Given the description of an element on the screen output the (x, y) to click on. 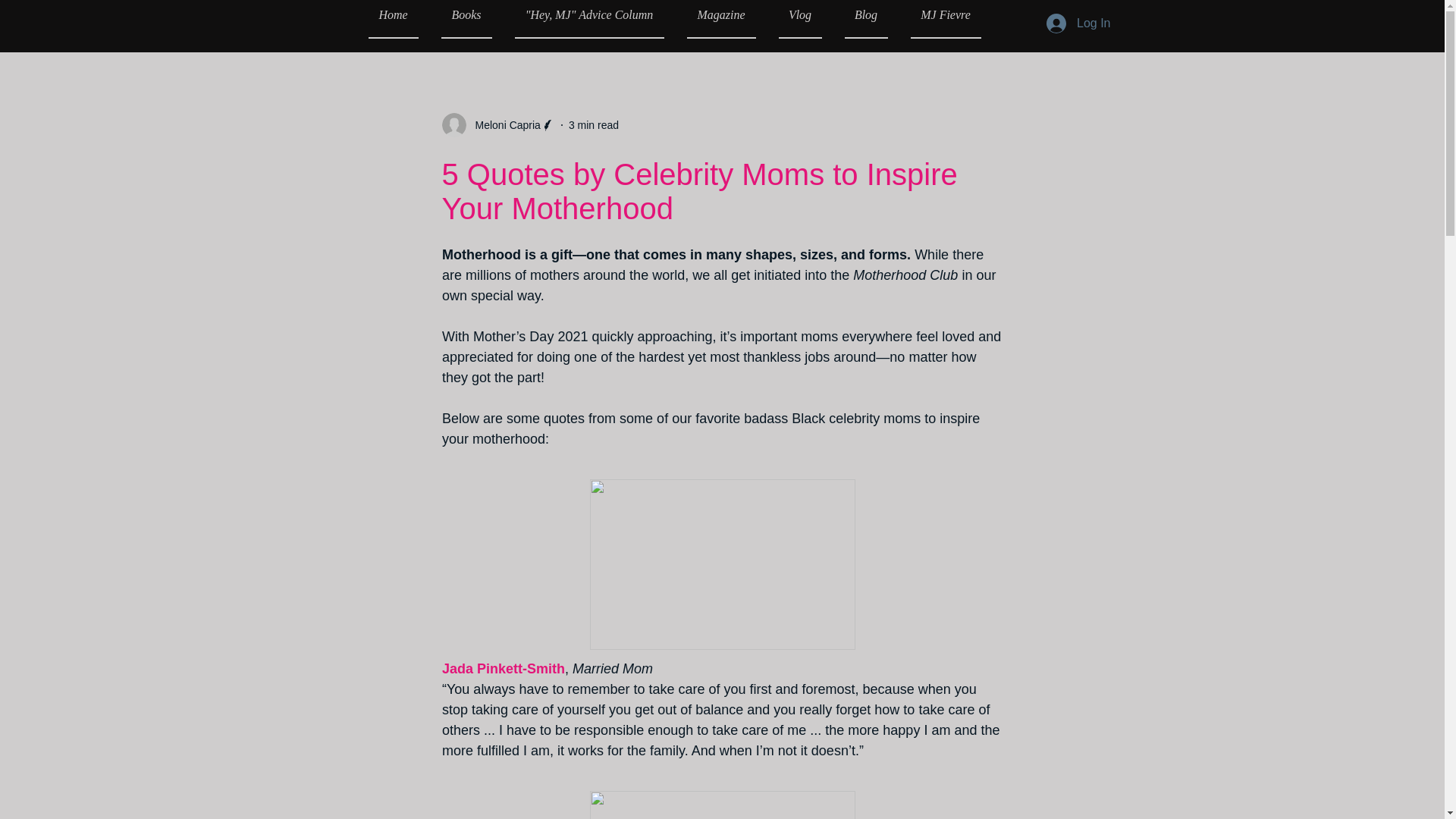
Log In (1078, 23)
"Hey, MJ" Advice Column (589, 19)
Vlog (799, 19)
Meloni Capria (497, 125)
Home (398, 19)
3 min read (593, 123)
Blog (865, 19)
Meloni Capria (502, 124)
